Given the description of an element on the screen output the (x, y) to click on. 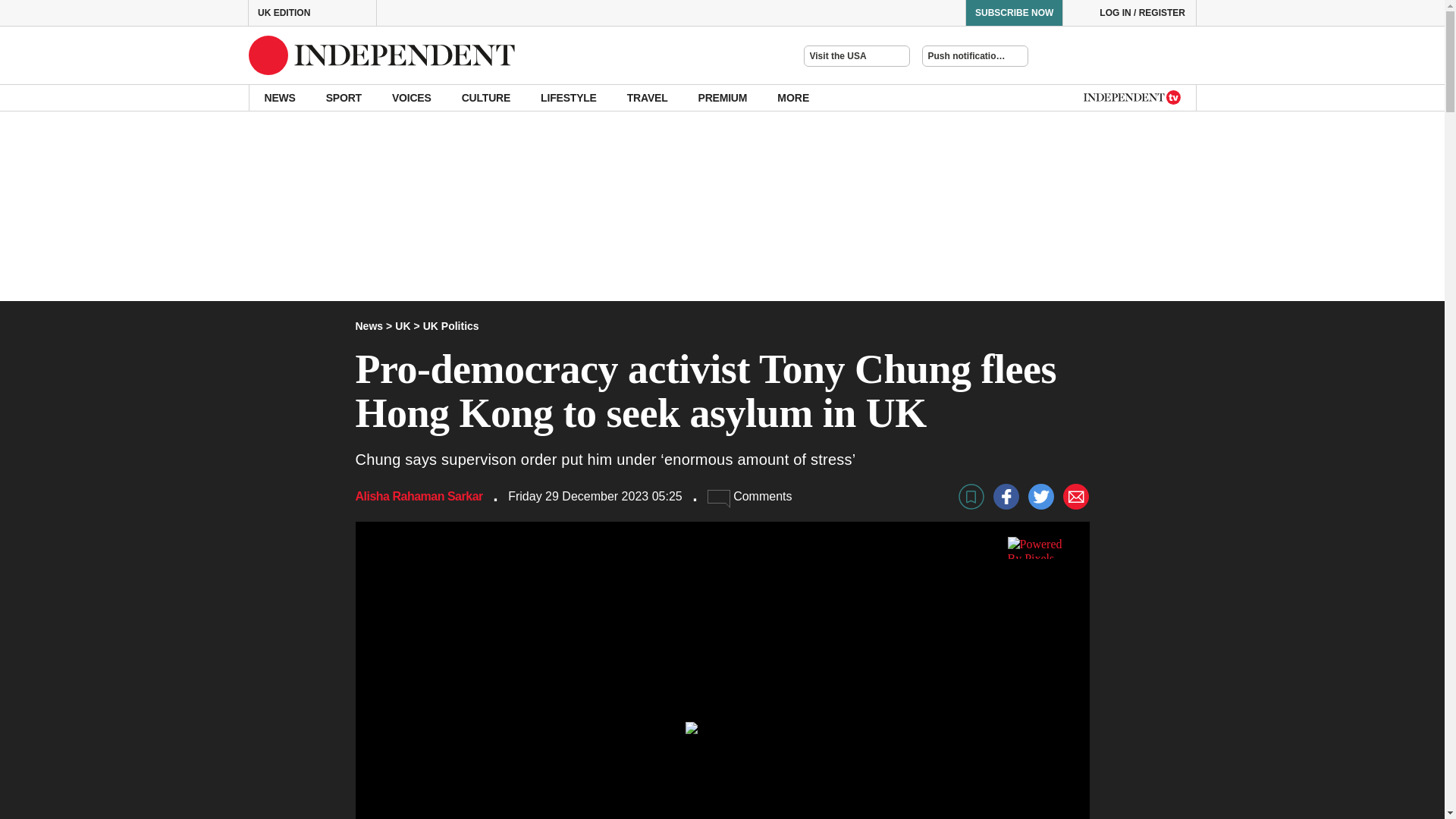
SUBSCRIBE NOW (1013, 12)
VOICES (411, 97)
Push notifications (974, 55)
Visit the USA (856, 55)
NEWS (279, 97)
SPORT (344, 97)
